Given the description of an element on the screen output the (x, y) to click on. 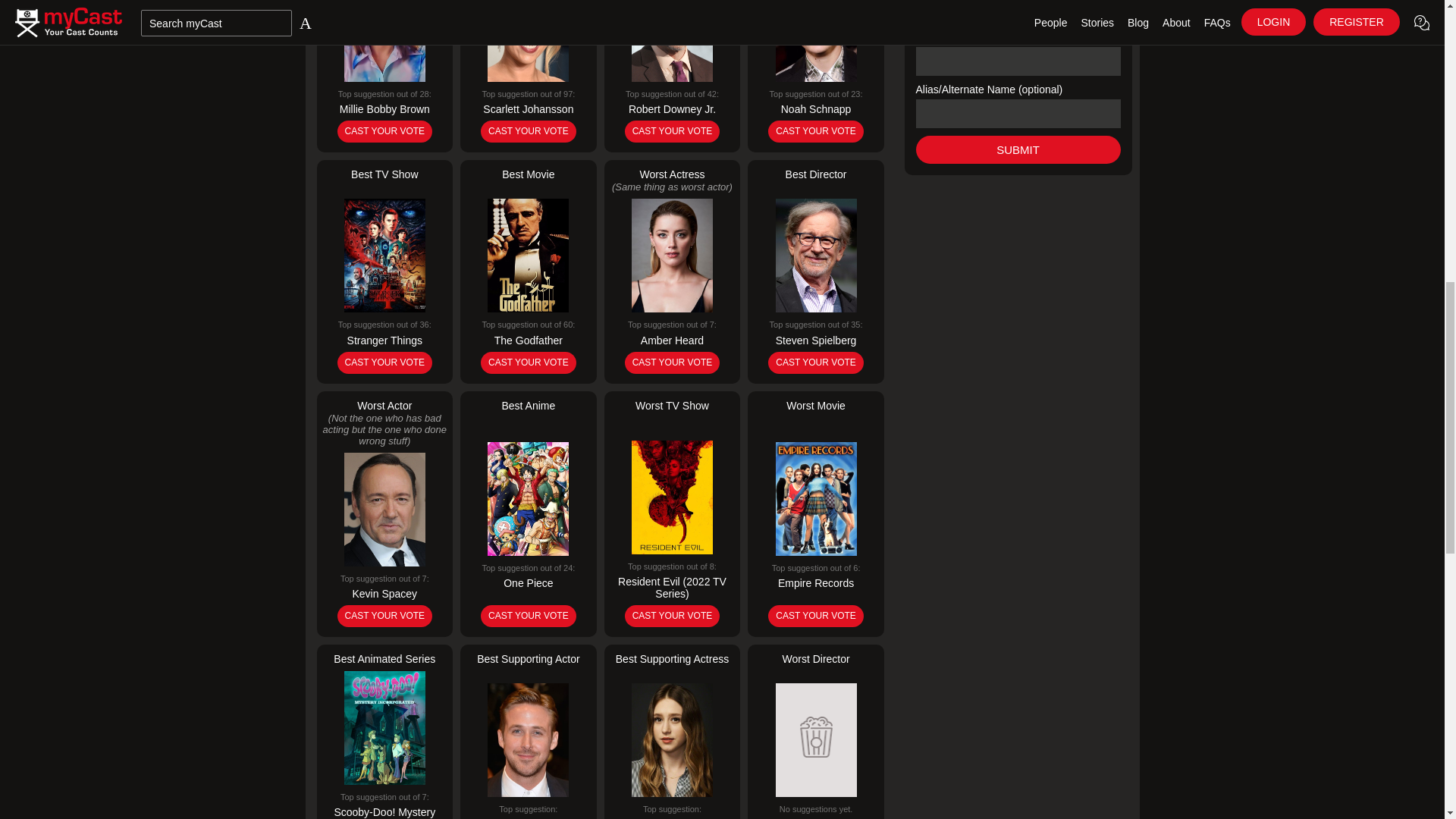
Best Actress (528, 76)
Best Actor (672, 76)
Best Rising Actor (815, 76)
Best Rising Actress (384, 76)
